Given the description of an element on the screen output the (x, y) to click on. 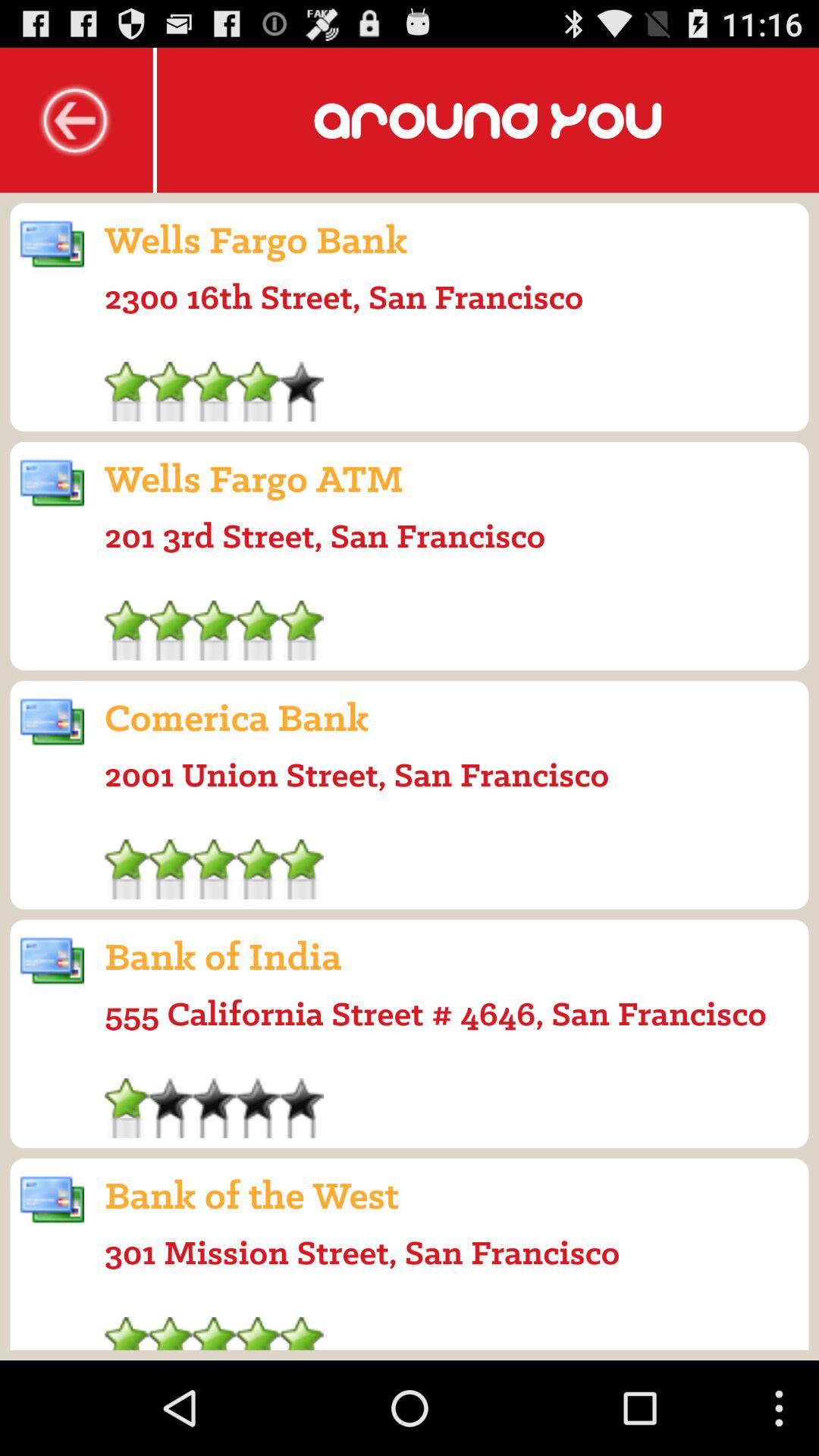
select the 2nd image on the web page (52, 483)
select the third icon left to comerica bank (52, 722)
click on the left arrow at top left corner of the page (76, 118)
select the last image on the bottom left corner of the web page (52, 1200)
